Given the description of an element on the screen output the (x, y) to click on. 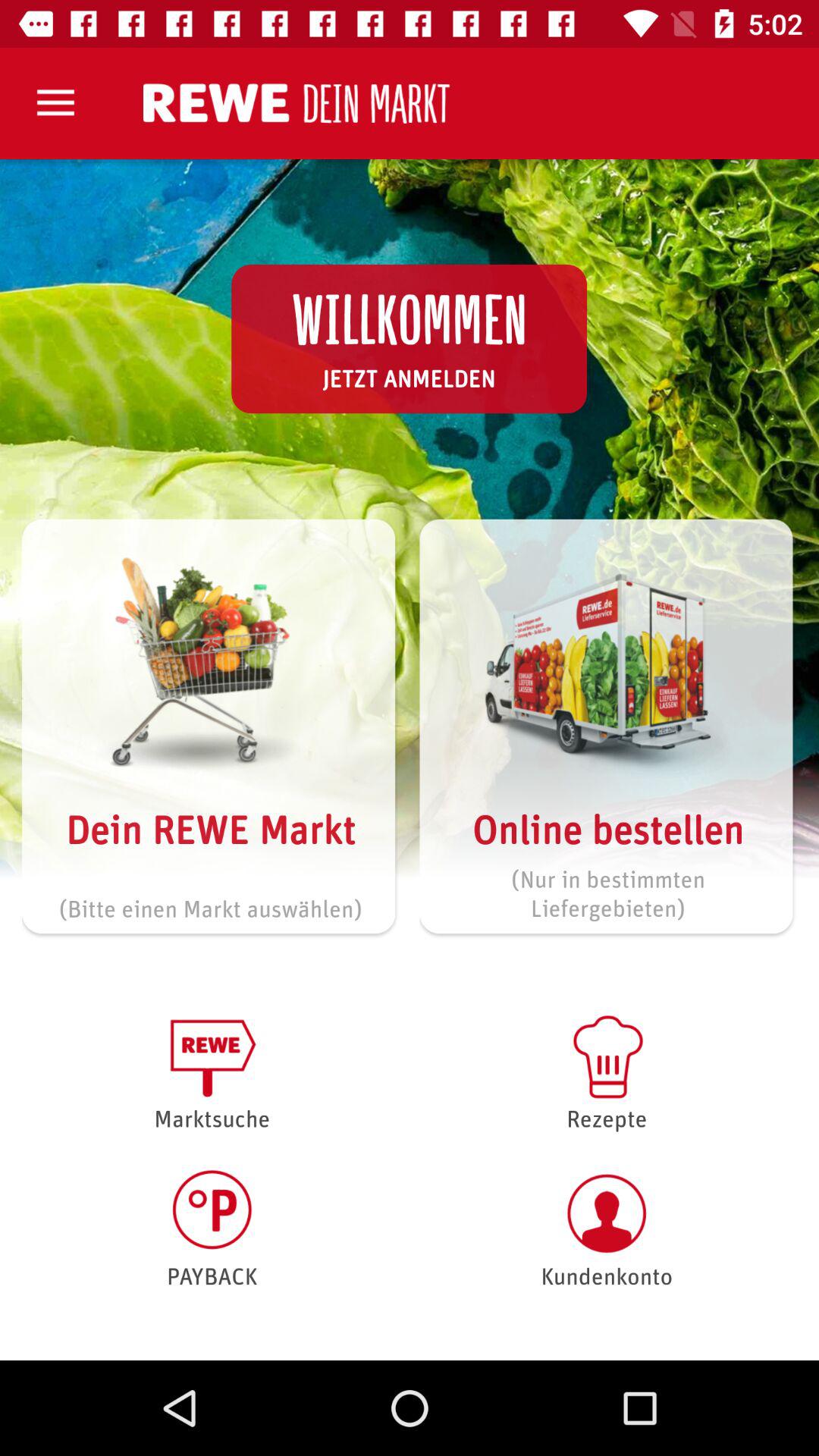
turn off the item below marktsuche icon (211, 1228)
